Given the description of an element on the screen output the (x, y) to click on. 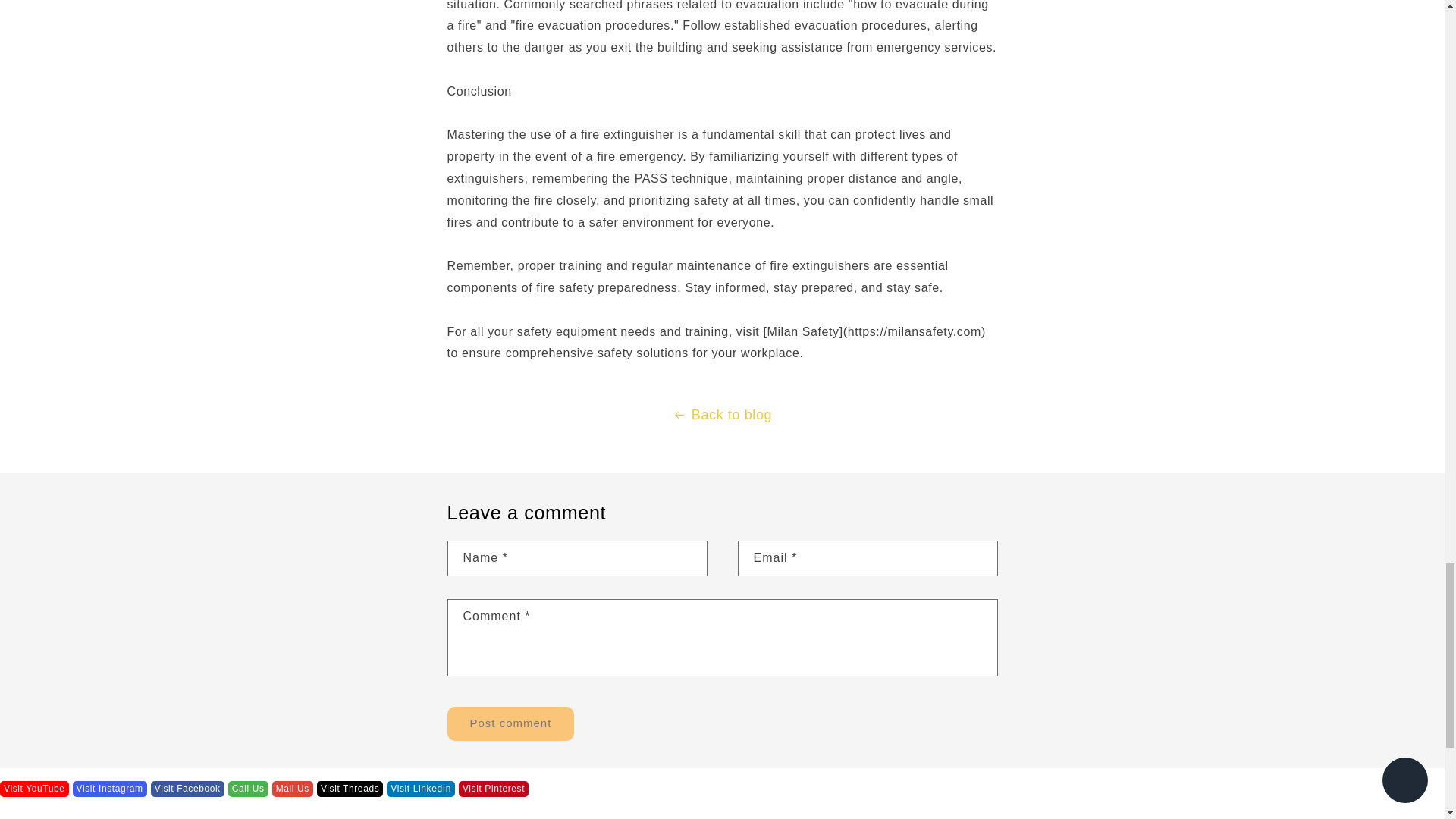
Post comment (510, 723)
